Given the description of an element on the screen output the (x, y) to click on. 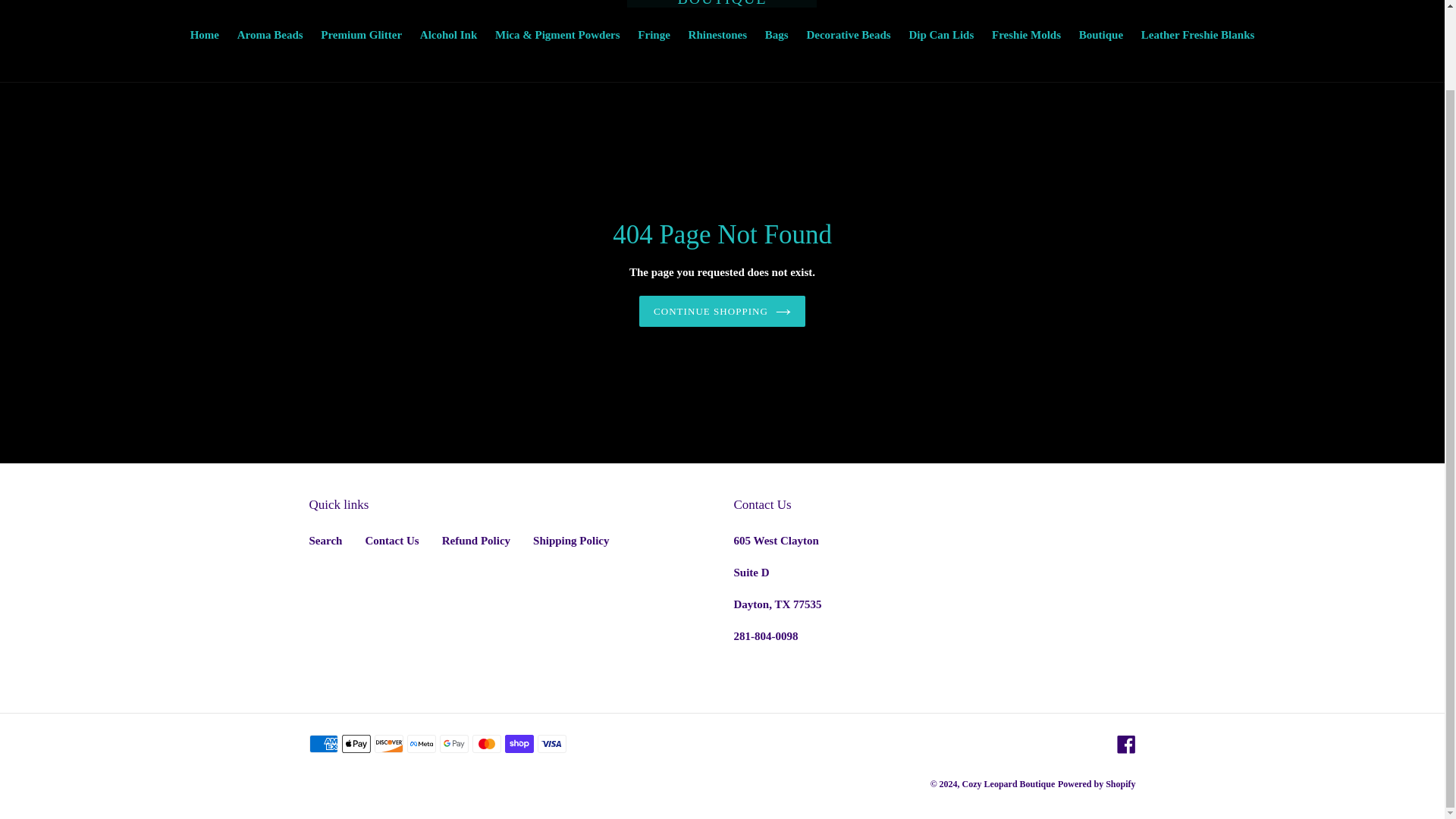
Aroma Beads (270, 35)
Leather Freshie Blanks (1198, 35)
Bags (776, 35)
CONTINUE SHOPPING (722, 311)
Home (205, 35)
Premium Glitter (361, 35)
Decorative Beads (847, 35)
Alcohol Ink (448, 35)
Fringe (654, 35)
Cart (1387, 2)
Search (325, 540)
Rhinestones (718, 35)
Log in (1355, 2)
Freshie Molds (1026, 35)
Dip Can Lids (941, 35)
